Given the description of an element on the screen output the (x, y) to click on. 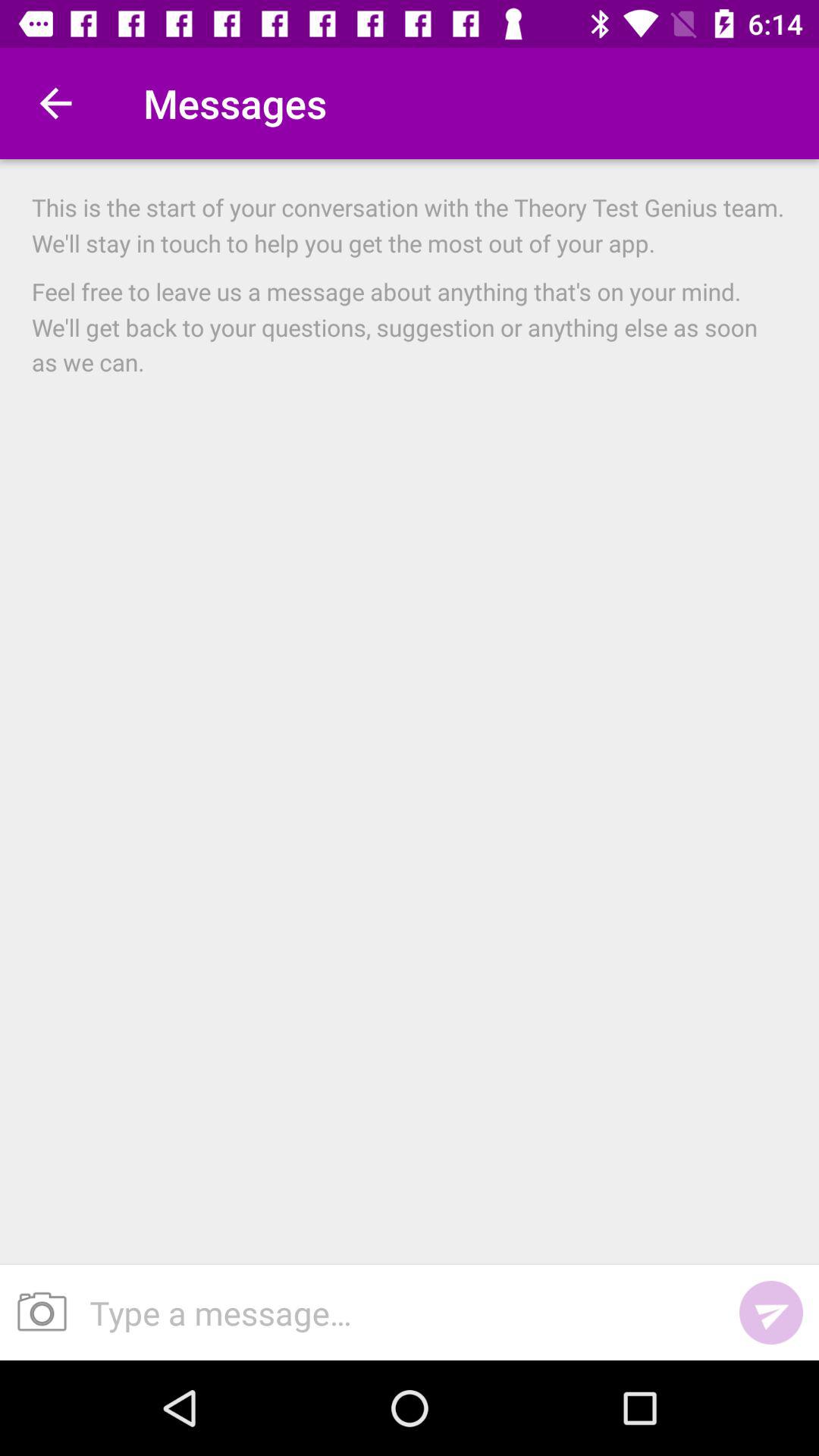
type a message (398, 1312)
